Given the description of an element on the screen output the (x, y) to click on. 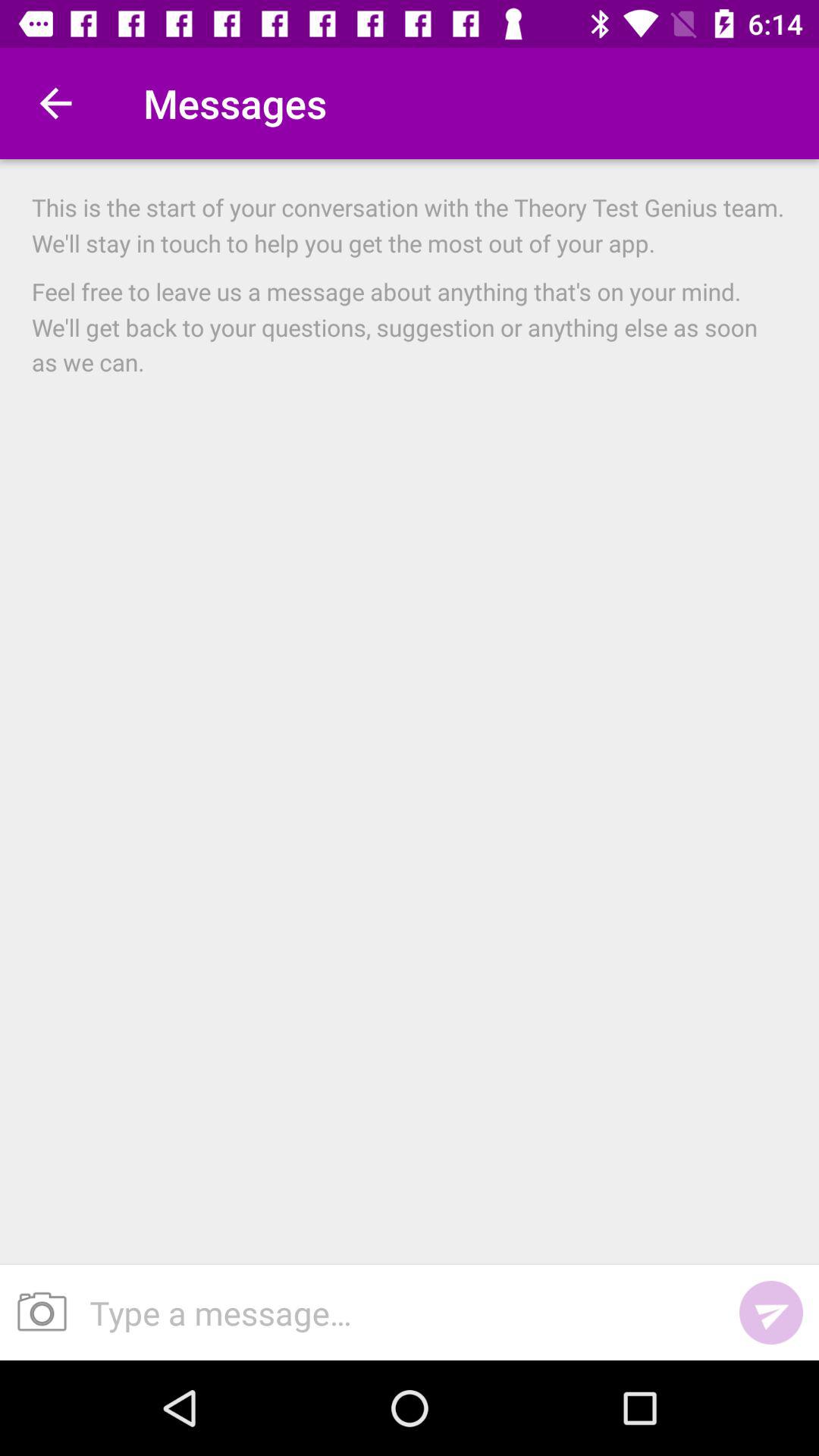
type a message (398, 1312)
